Given the description of an element on the screen output the (x, y) to click on. 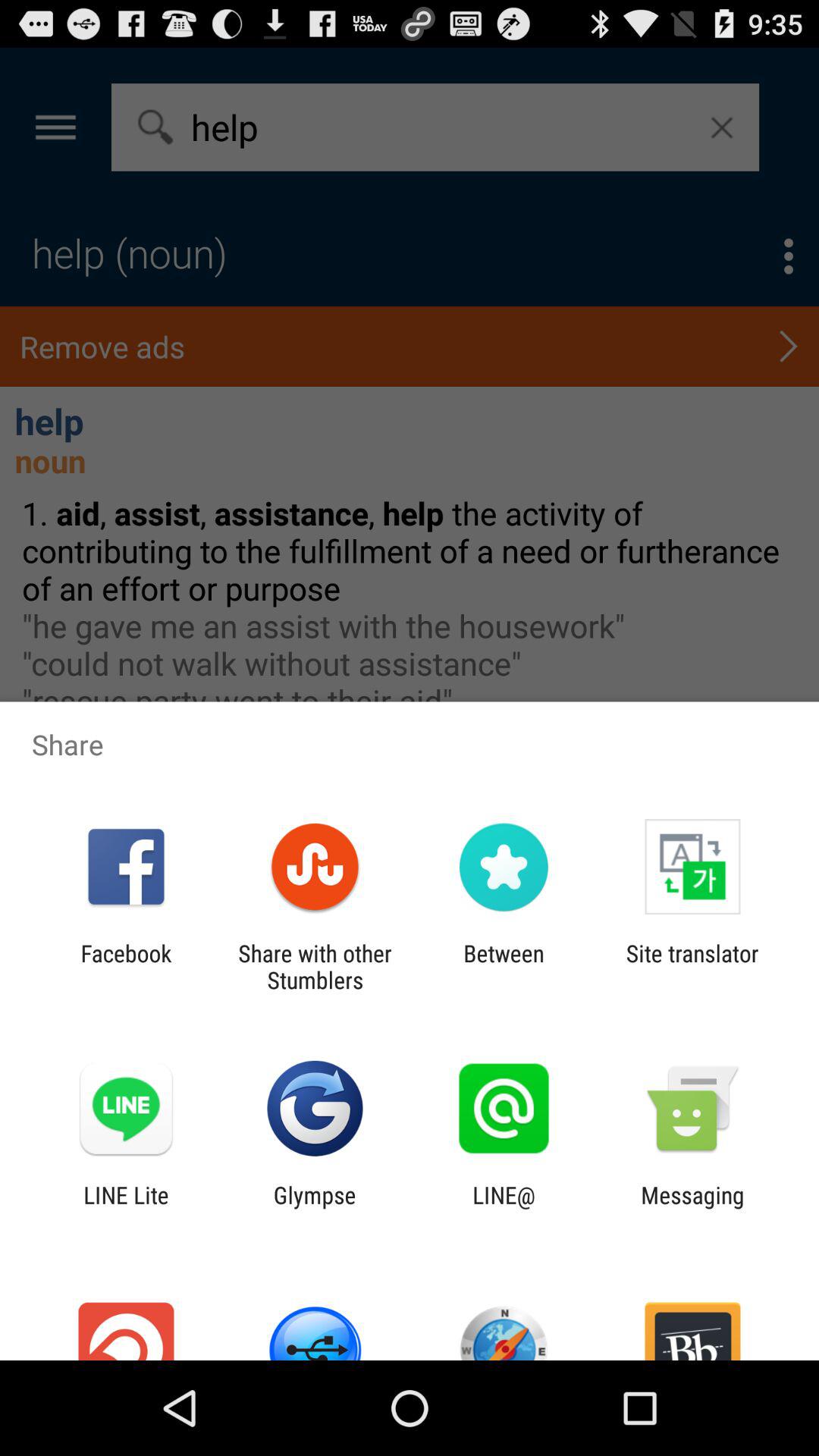
swipe to share with other app (314, 966)
